Given the description of an element on the screen output the (x, y) to click on. 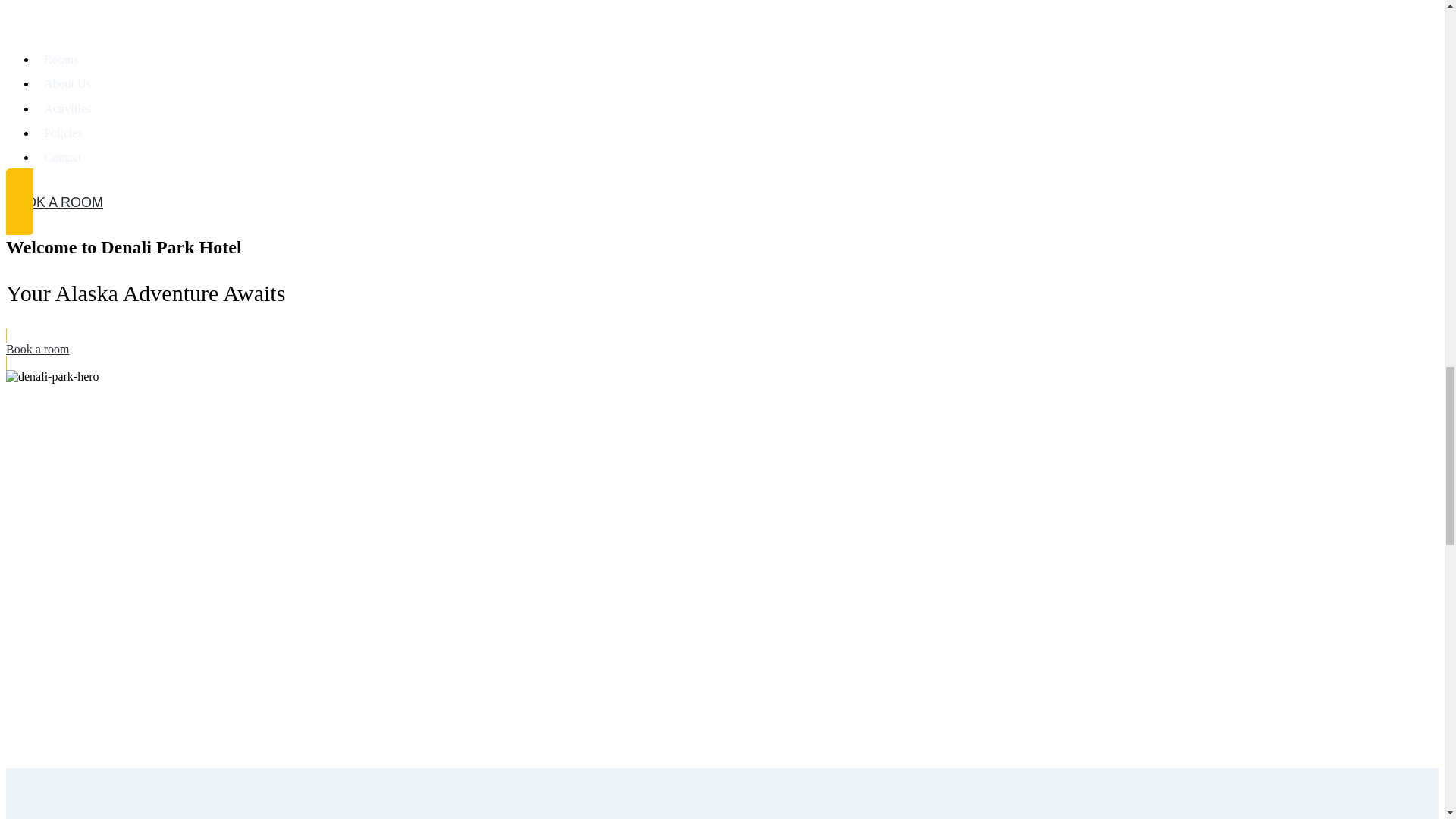
Contact (62, 156)
Activities (66, 108)
Policies (62, 132)
About Us (66, 83)
Rooms (60, 59)
